Given the description of an element on the screen output the (x, y) to click on. 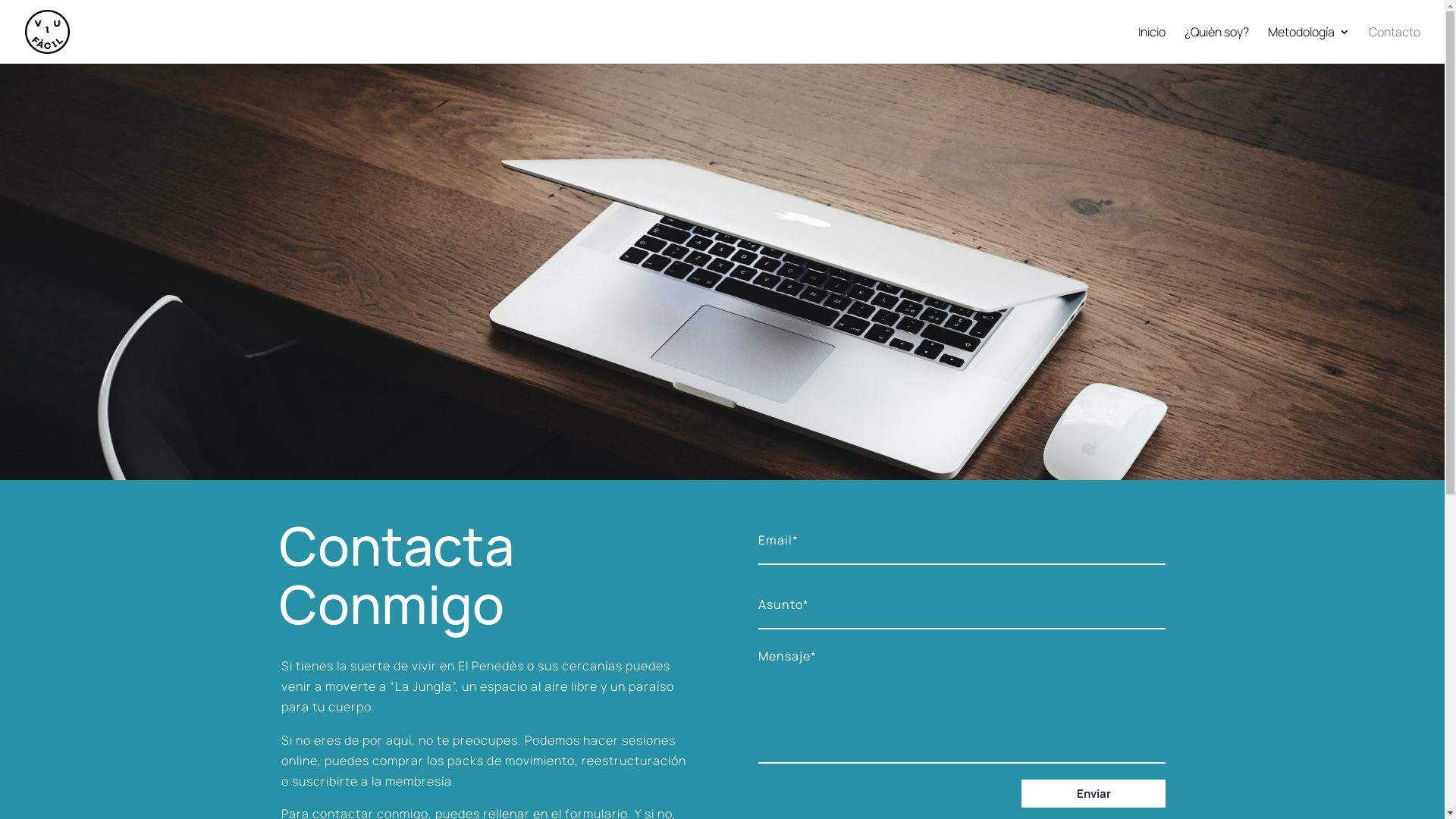
Contacto Element type: text (1394, 44)
Skip to content Element type: text (0, 0)
Enviar Element type: text (1093, 793)
Inicio Element type: text (1151, 44)
